Given the description of an element on the screen output the (x, y) to click on. 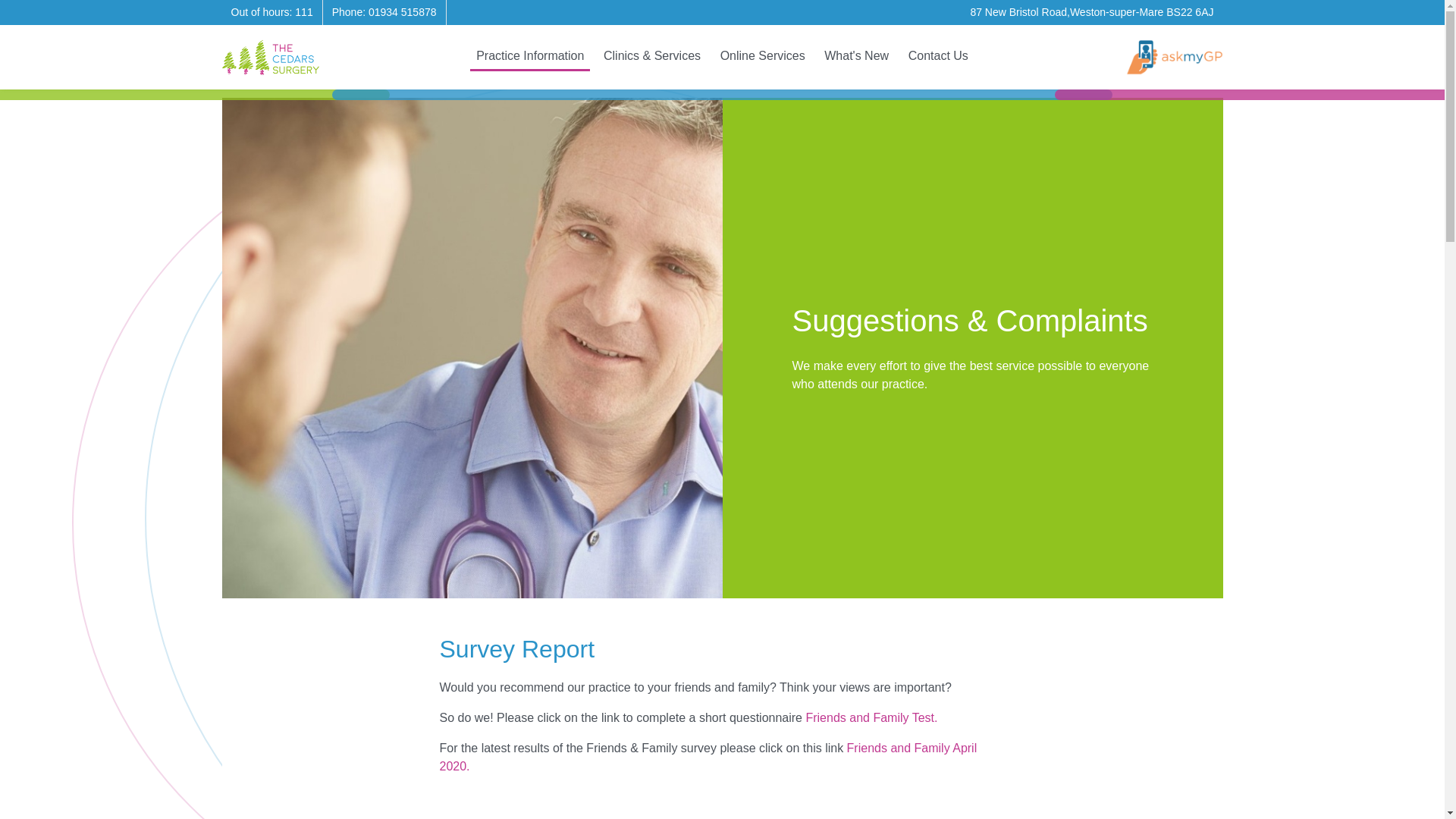
Out of hours: 111 (271, 11)
Phone: 01934 515878 (383, 11)
Home (269, 57)
87 New Bristol Road, Weston-super-Mare BS22 6AJ (1090, 11)
The Practice (529, 55)
AskMyGP Login (1174, 57)
Practice Information (529, 55)
